Given the description of an element on the screen output the (x, y) to click on. 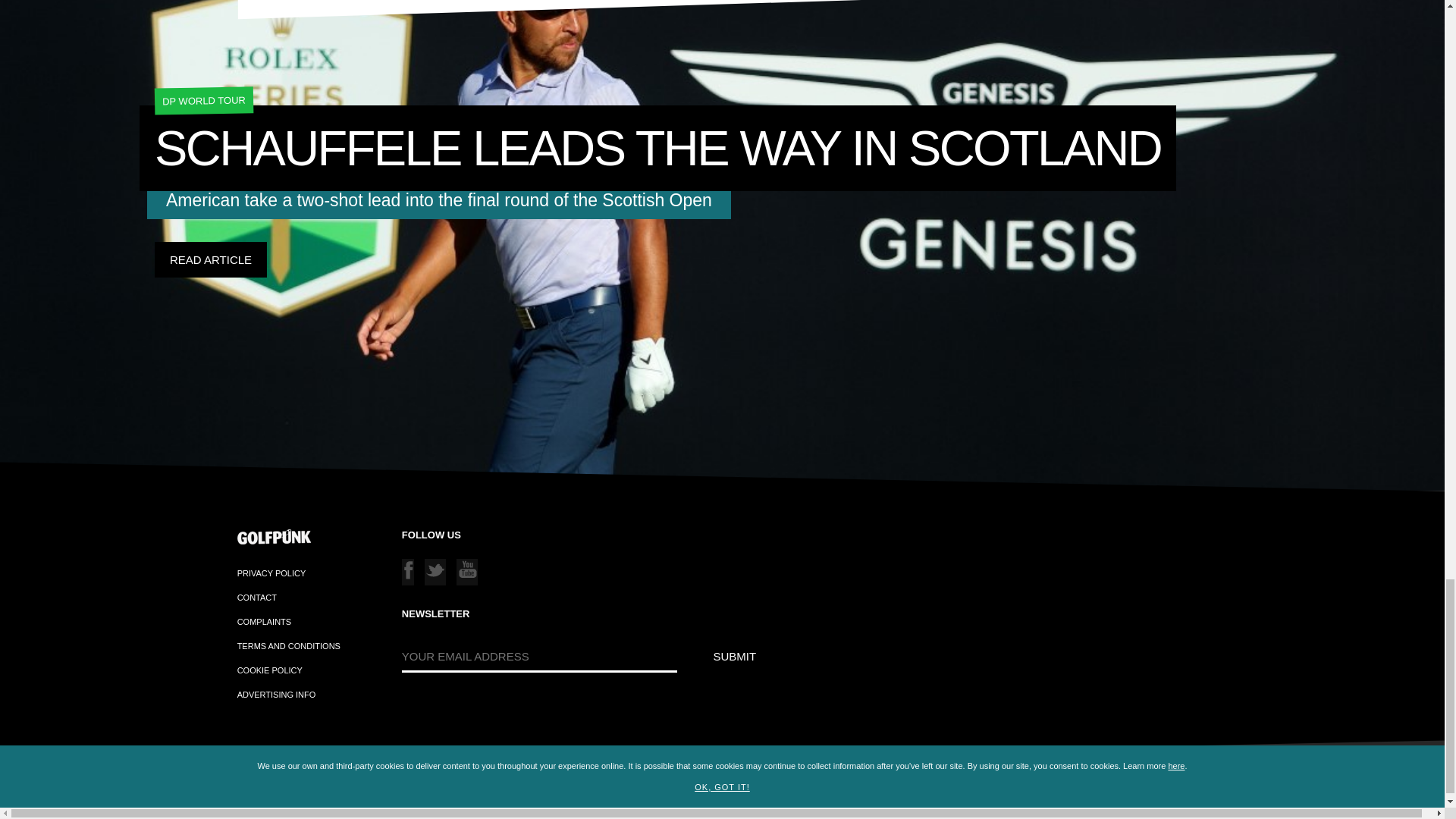
Submit (734, 656)
GolfPunkHQ (216, 794)
